Given the description of an element on the screen output the (x, y) to click on. 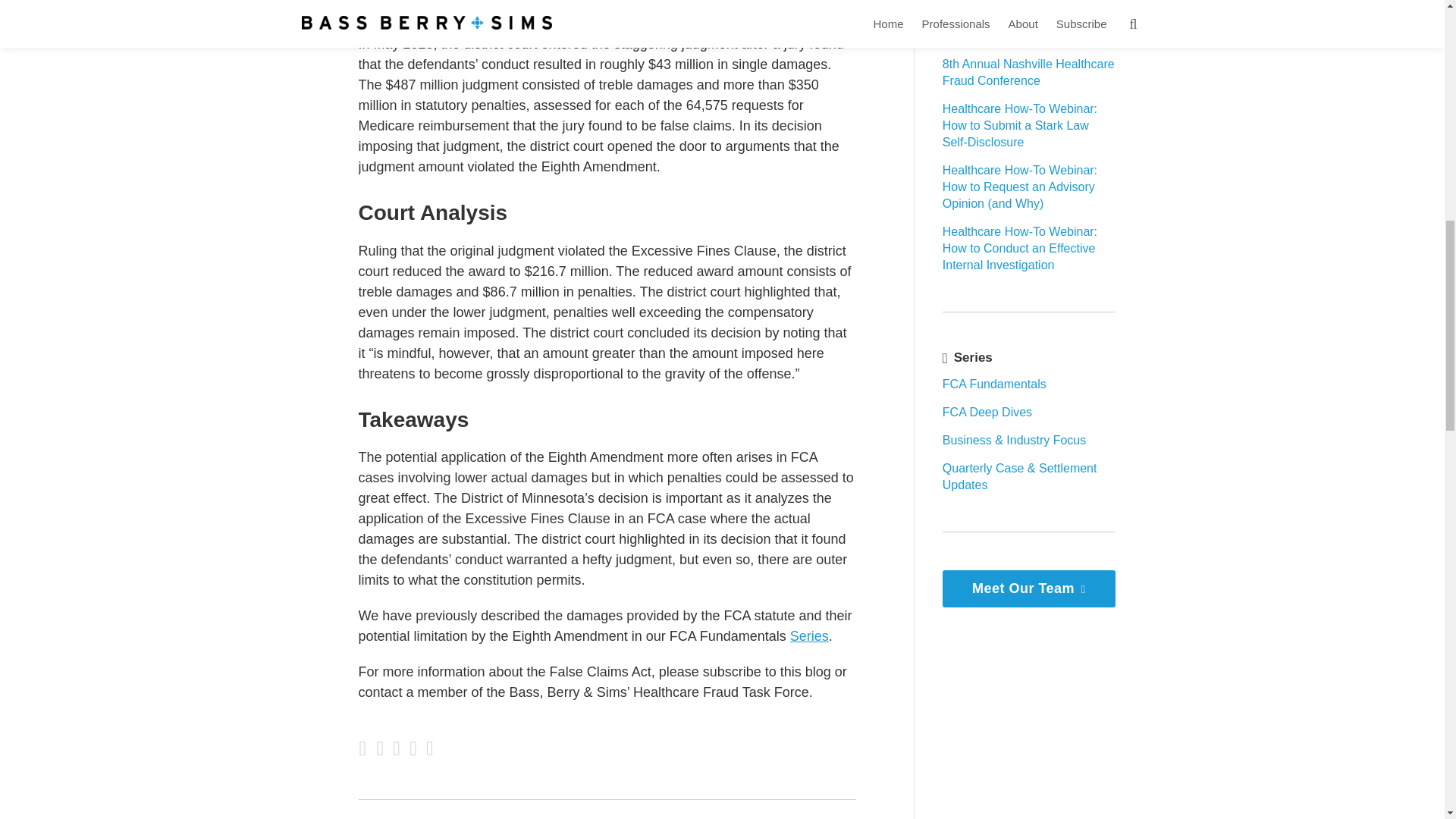
Series (809, 635)
